Given the description of an element on the screen output the (x, y) to click on. 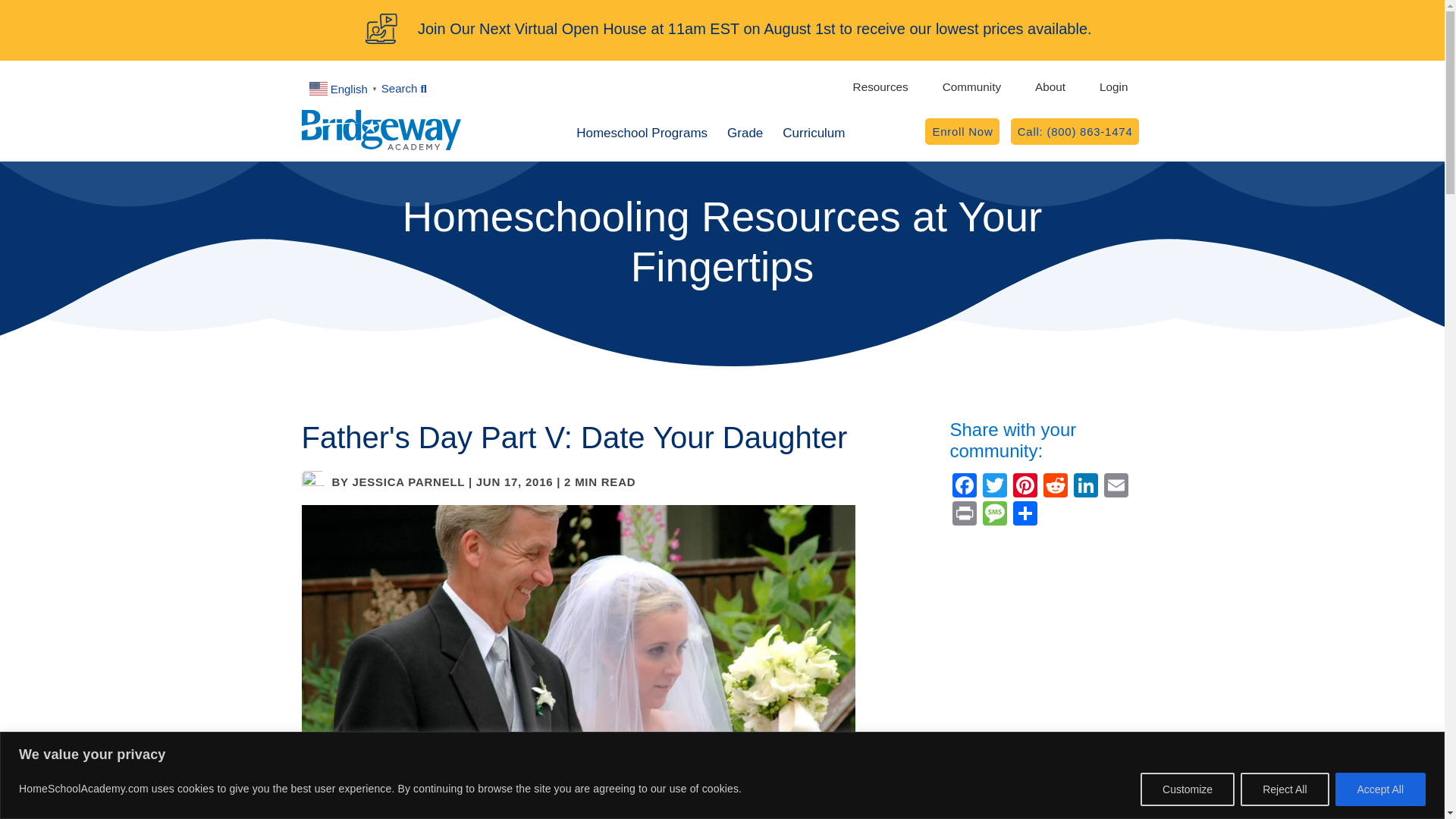
Search (403, 88)
Community (973, 86)
Accept All (710, 131)
LinkedIn (1380, 788)
Resources (1085, 487)
About (882, 86)
Reddit (1052, 86)
Pinterest (1055, 487)
Reject All (1025, 487)
Facebook (1283, 788)
Print (990, 86)
Customize (964, 487)
